Given the description of an element on the screen output the (x, y) to click on. 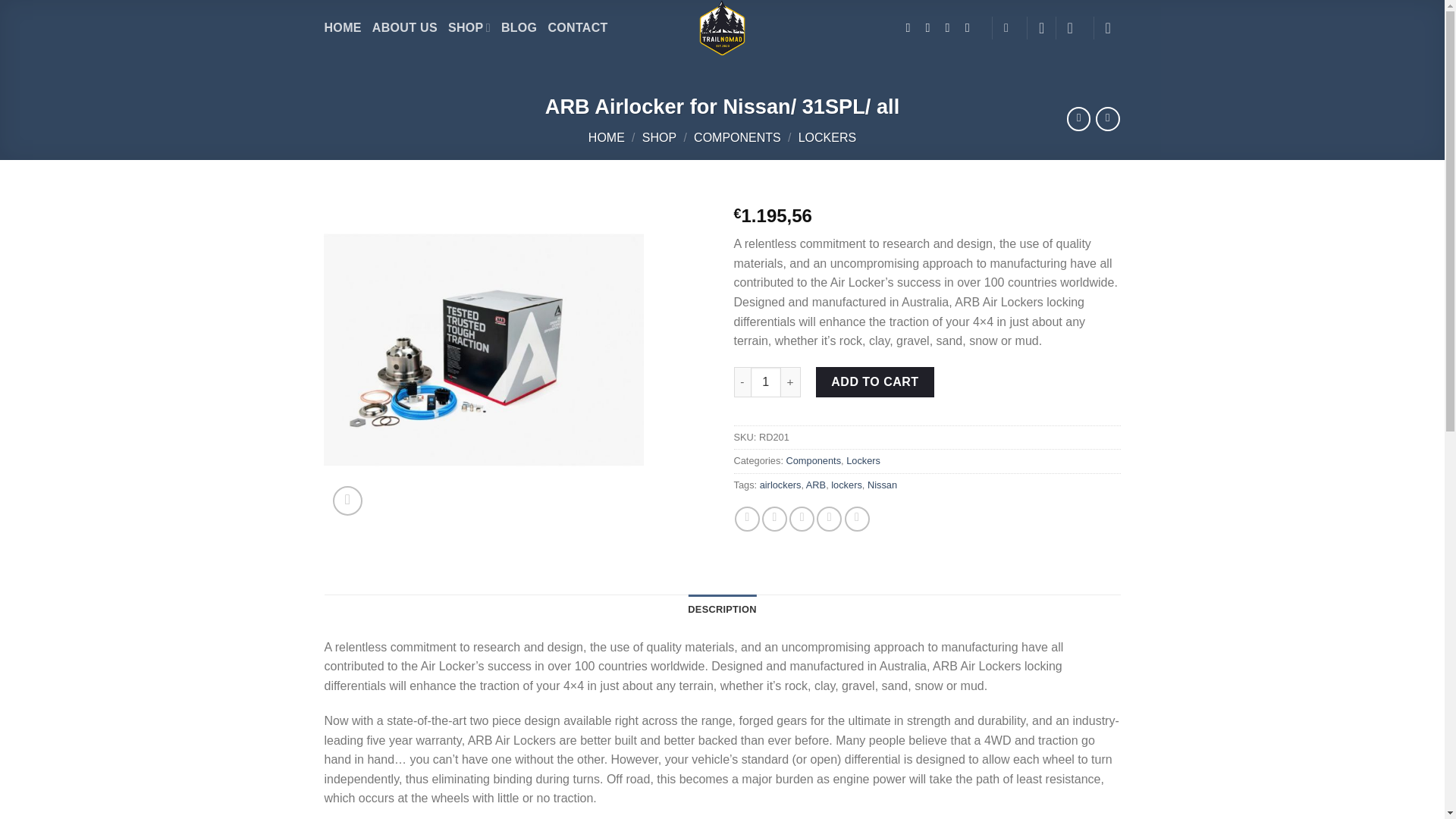
Qty (765, 381)
ABOUT US (405, 26)
1 (765, 381)
HOME (342, 26)
SHOP (469, 27)
